Given the description of an element on the screen output the (x, y) to click on. 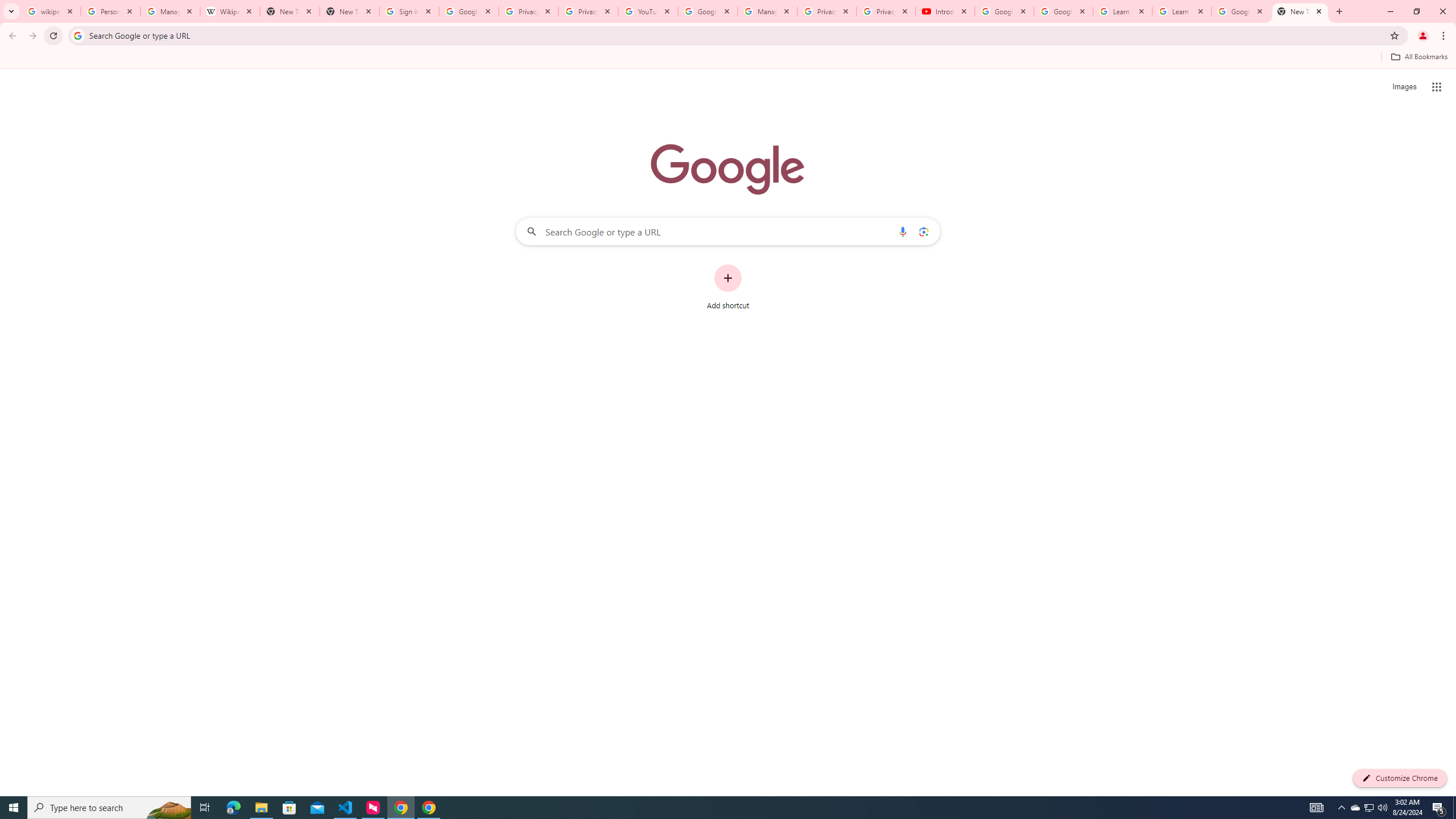
Manage your Location History - Google Search Help (170, 11)
Personalization & Google Search results - Google Search Help (110, 11)
New Tab (1300, 11)
Search by image (922, 230)
Search Google or type a URL (727, 230)
Introduction | Google Privacy Policy - YouTube (944, 11)
Bookmarks (728, 58)
